Given the description of an element on the screen output the (x, y) to click on. 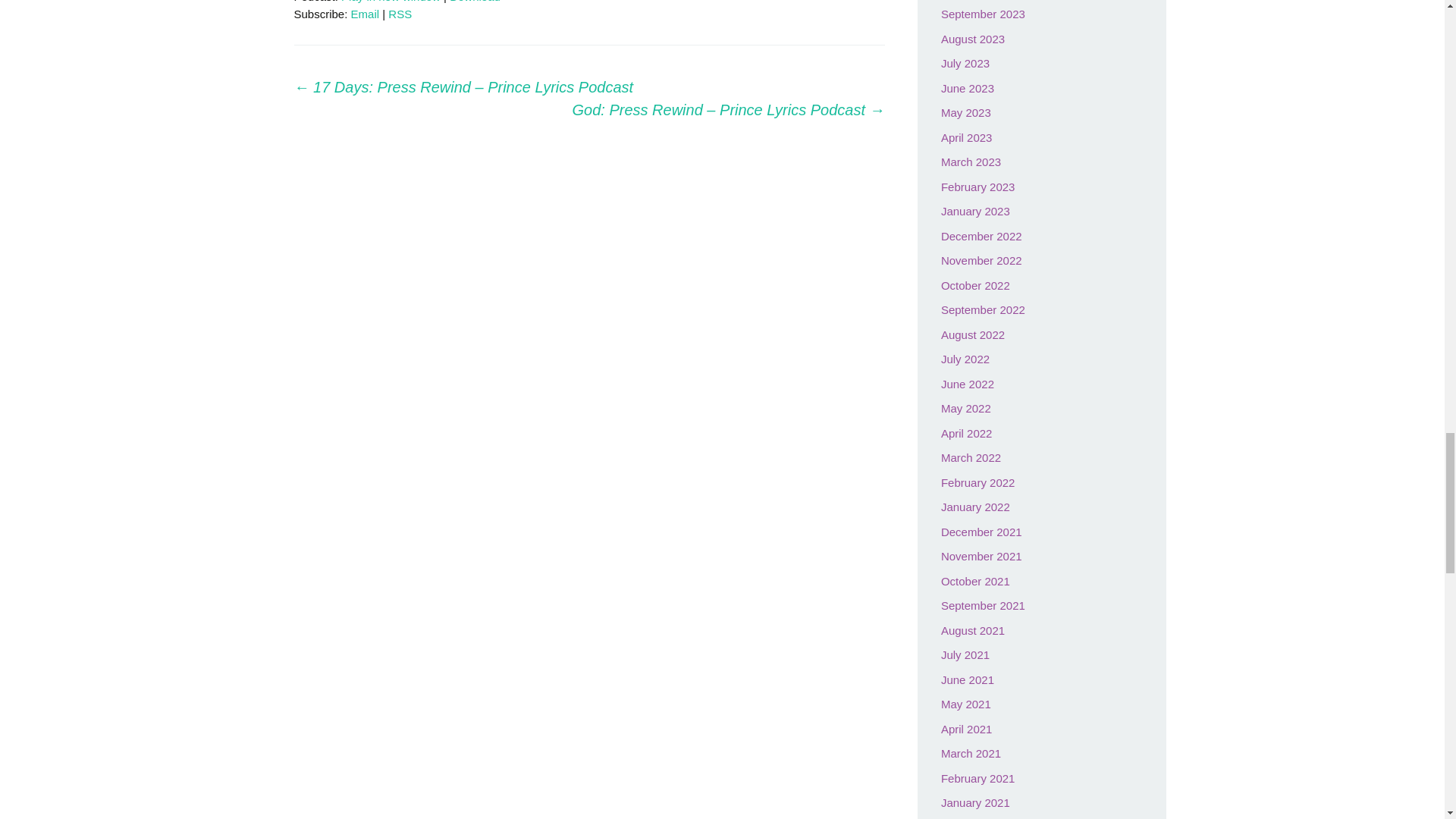
Subscribe by Email (365, 13)
Download (474, 1)
Play in new window (390, 1)
Subscribe via RSS (400, 13)
